Given the description of an element on the screen output the (x, y) to click on. 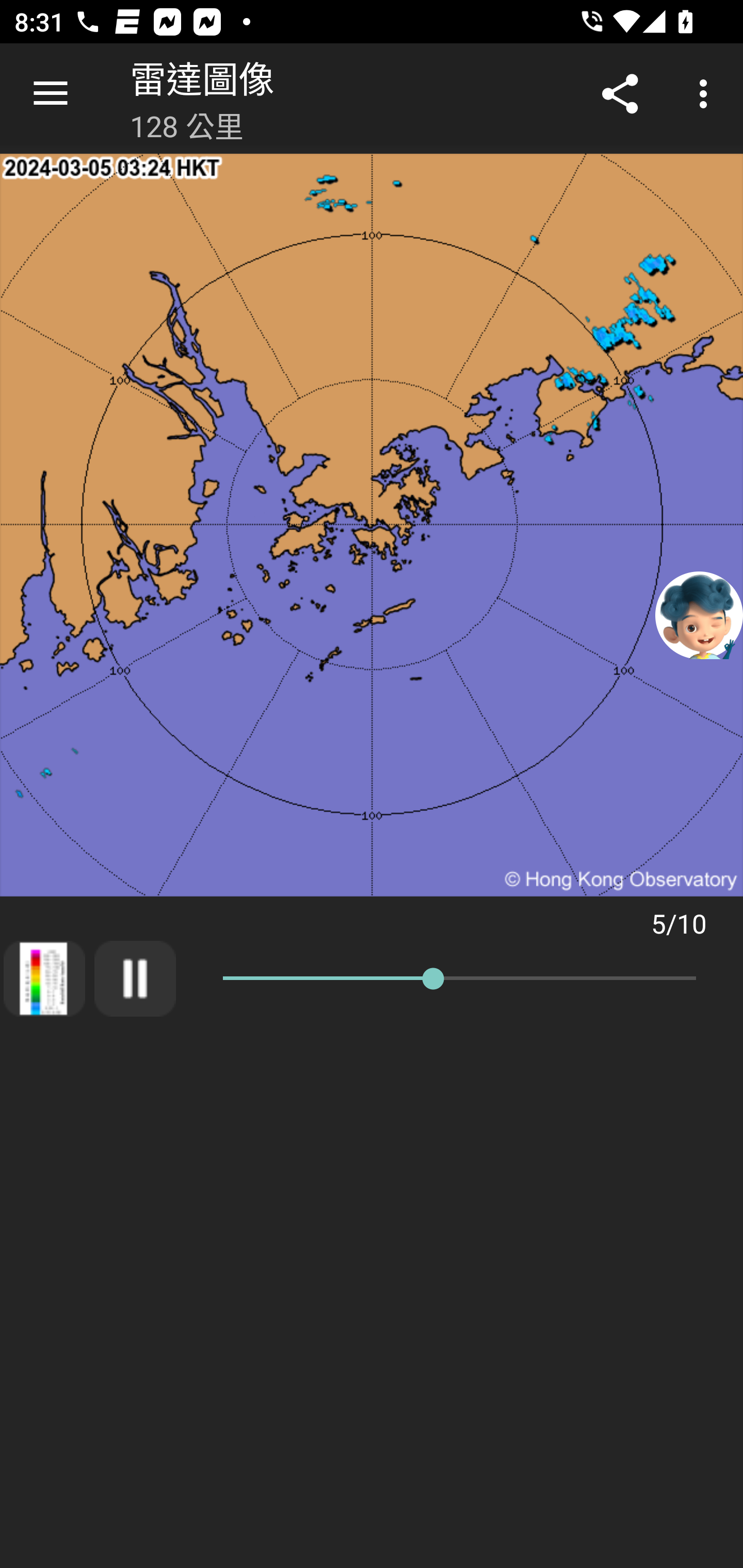
向上瀏覽 (50, 93)
分享 (619, 93)
更多選項 (706, 93)
聊天機械人 (699, 614)
圖解 (44, 978)
暫停 (135, 978)
